Given the description of an element on the screen output the (x, y) to click on. 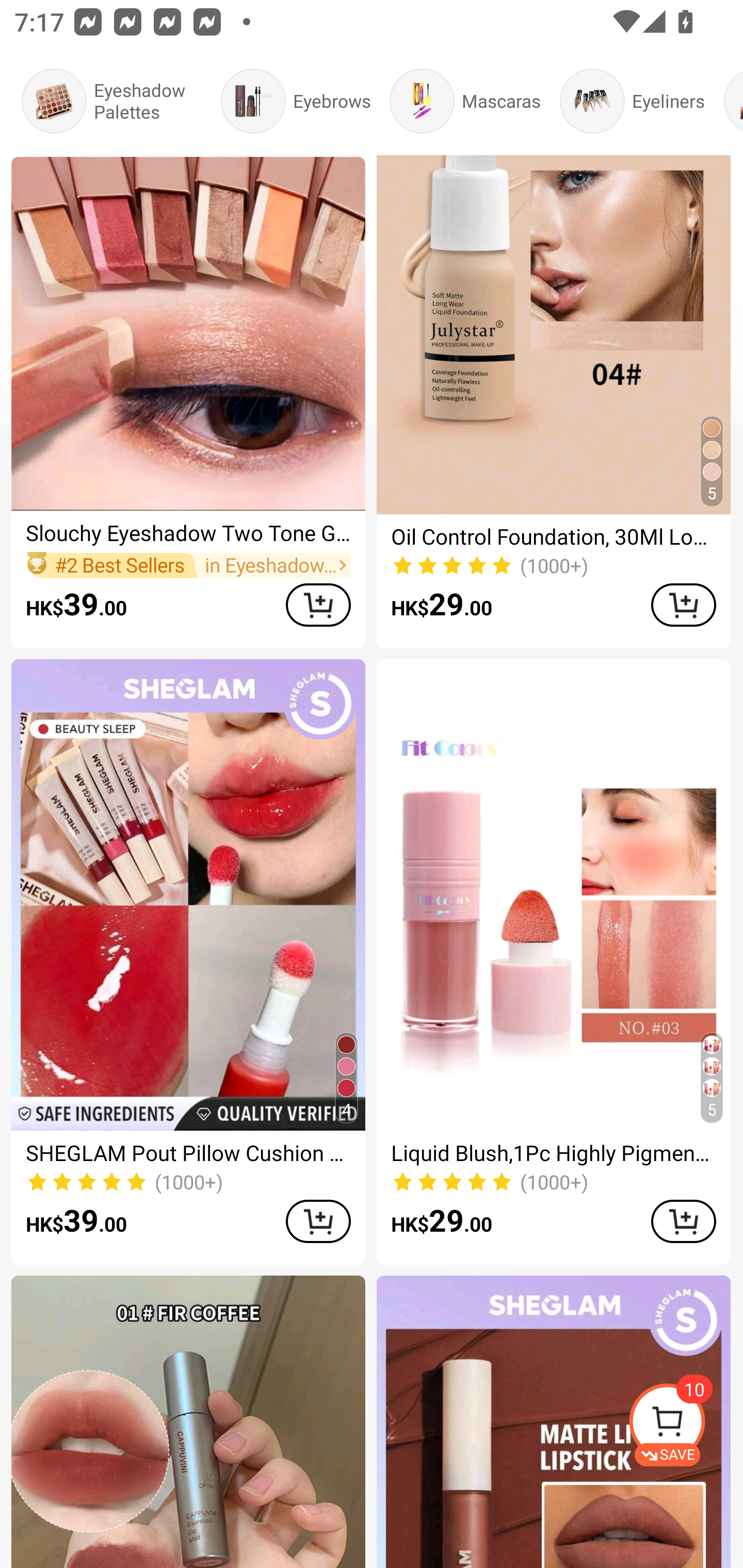
Eyeshadow Palettes (111, 100)
Eyebrows (295, 100)
Mascaras (464, 100)
Eyeliners (632, 100)
#2 Best Sellers in Eyeshadow Palettes (188, 565)
ADD TO CART (318, 605)
ADD TO CART (683, 605)
ADD TO CART (318, 1221)
ADD TO CART (683, 1221)
SAVE (685, 1424)
